Given the description of an element on the screen output the (x, y) to click on. 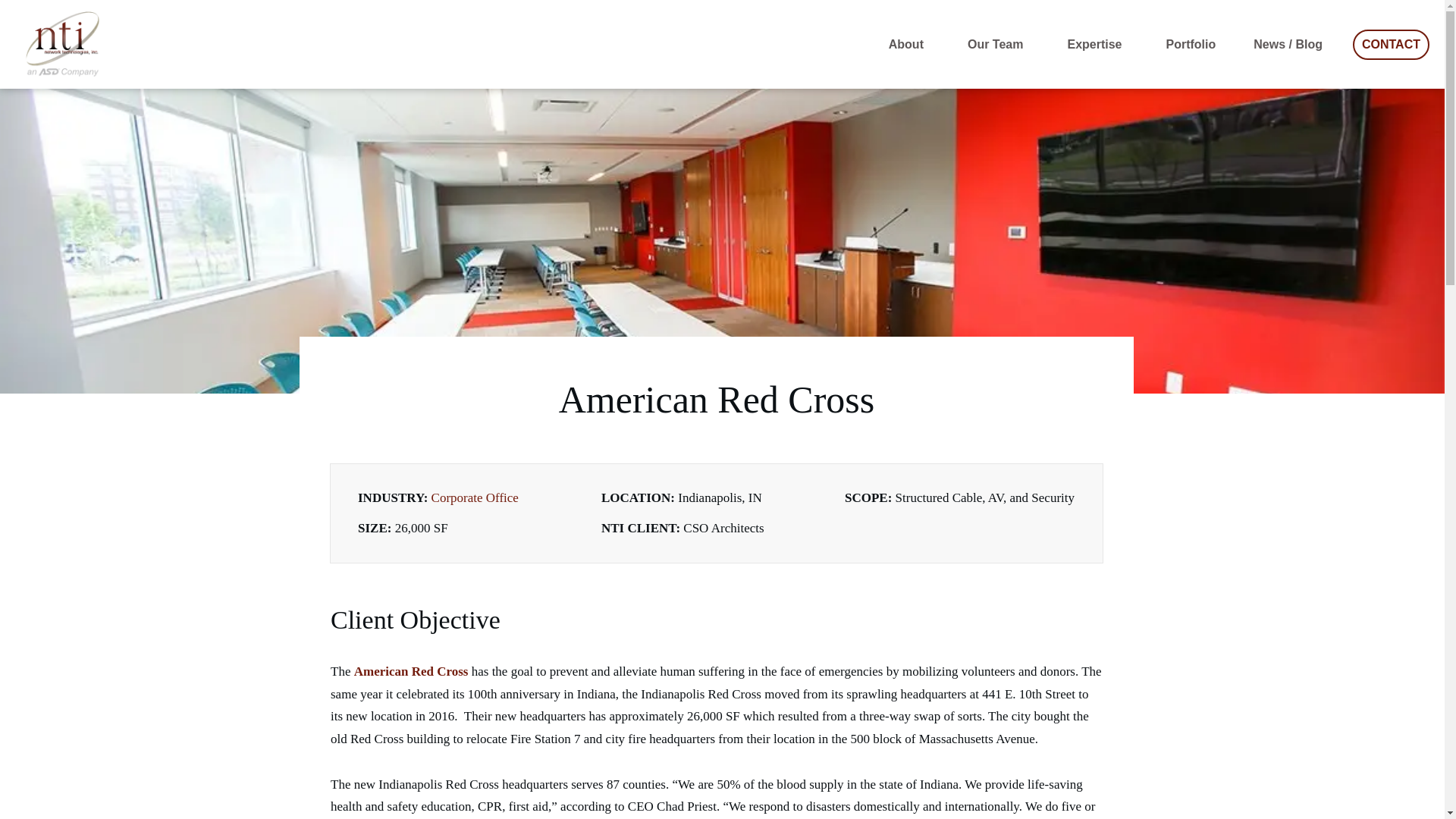
CONTACT (1391, 44)
About (909, 44)
Expertise (1096, 44)
Portfolio (1190, 44)
Corporate Office (474, 497)
American Red Cross (410, 671)
Our Team (998, 44)
